Given the description of an element on the screen output the (x, y) to click on. 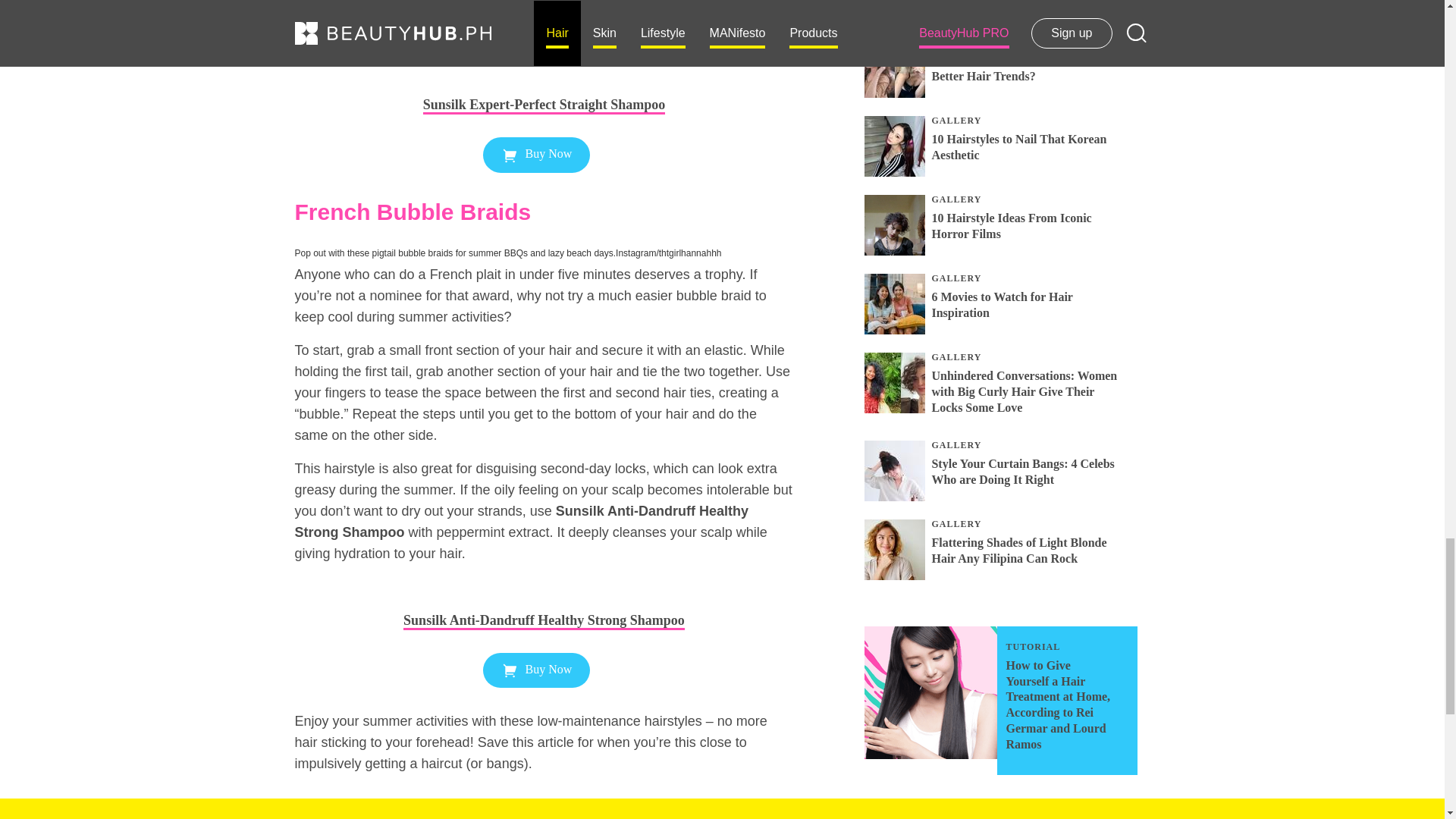
Click to see Product details (543, 597)
Click to see product details (543, 105)
Click to see product details (543, 621)
Click to see Product details (543, 81)
